Given the description of an element on the screen output the (x, y) to click on. 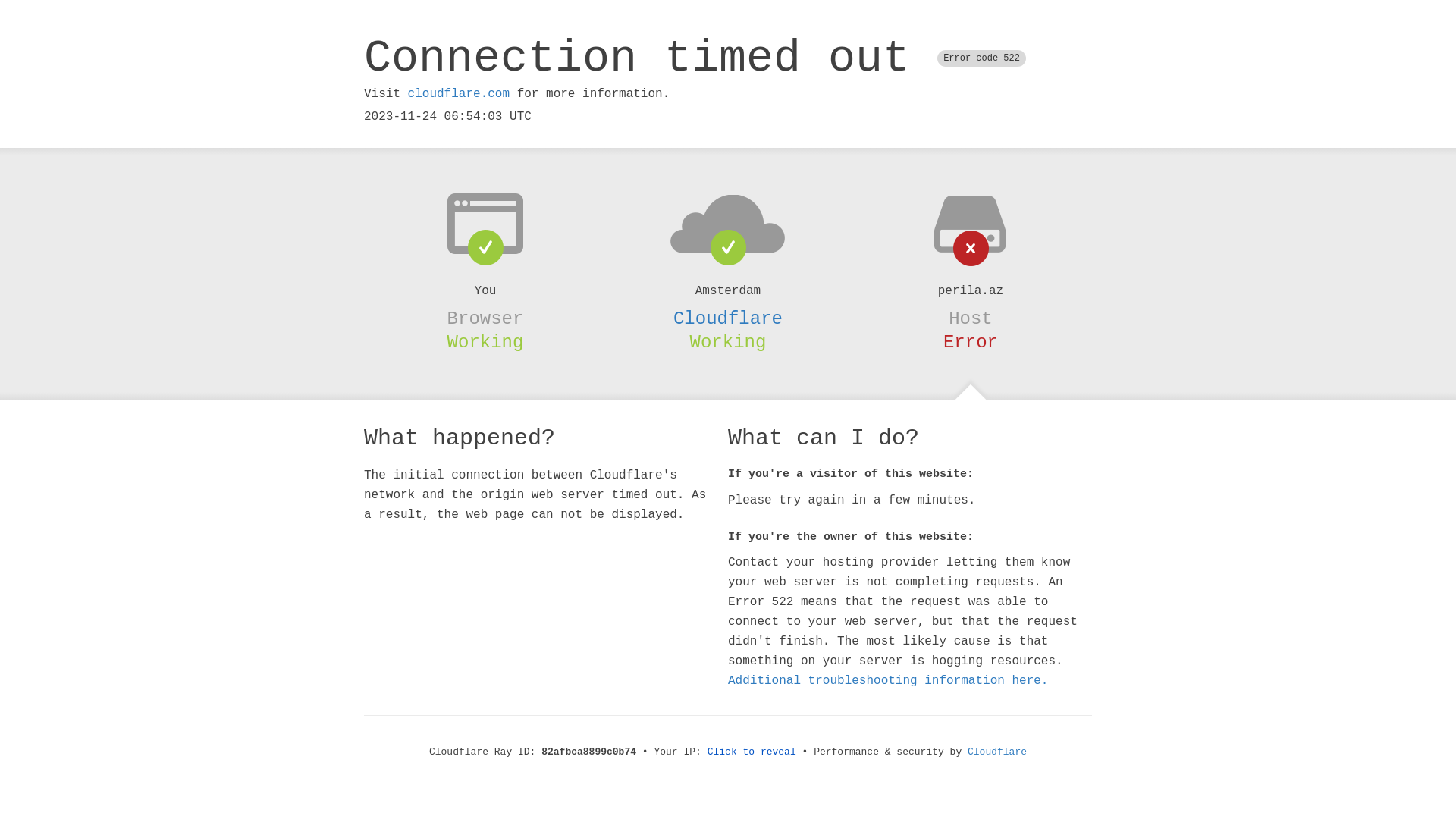
cloudflare.com Element type: text (458, 93)
Cloudflare Element type: text (996, 751)
Cloudflare Element type: text (727, 318)
Additional troubleshooting information here. Element type: text (888, 680)
Click to reveal Element type: text (751, 751)
